Given the description of an element on the screen output the (x, y) to click on. 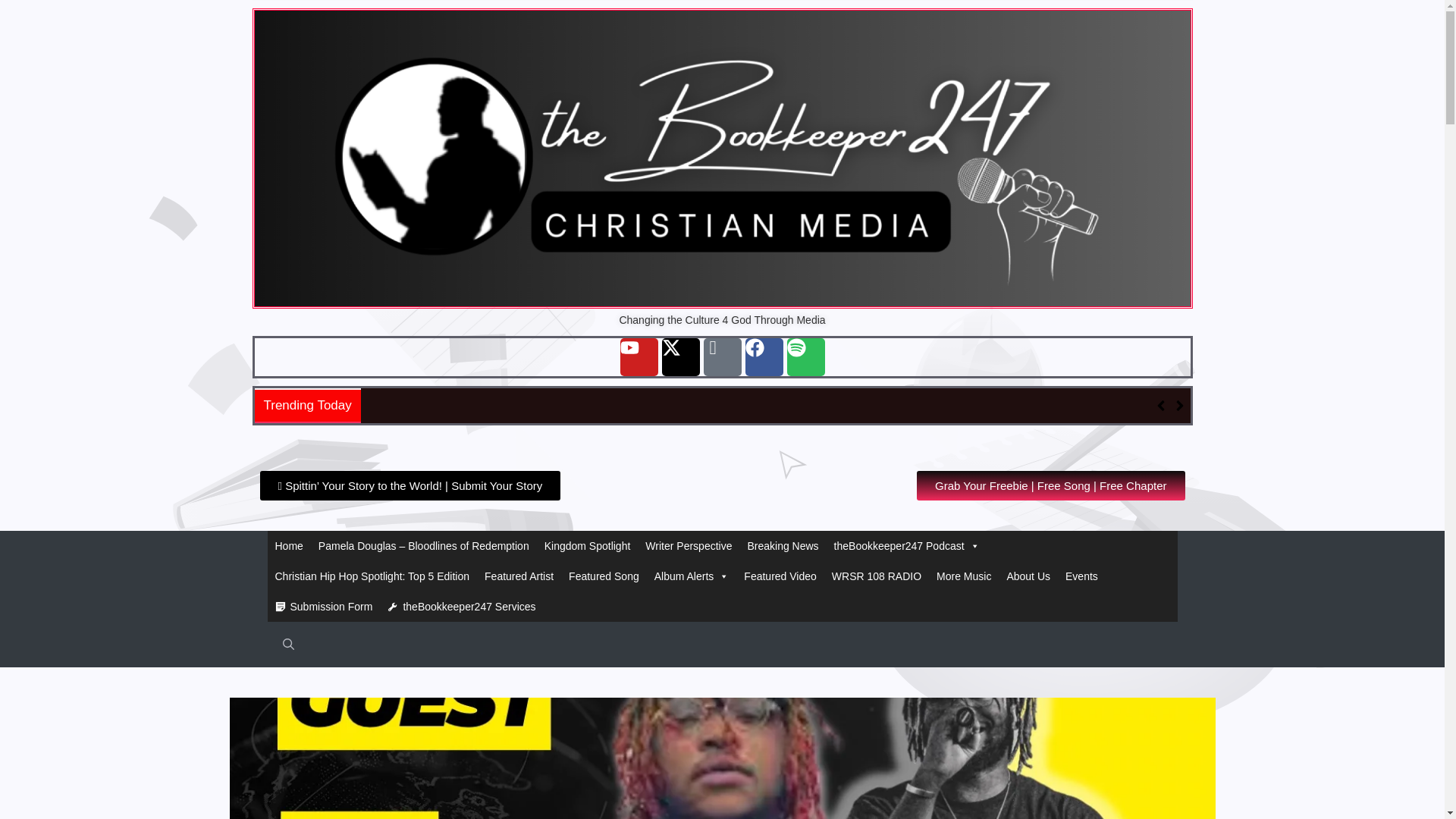
Breaking News (782, 545)
Featured Song (603, 576)
Home (288, 545)
Featured Artist (518, 576)
Christian Hip Hop Spotlight: Top 5 Edition (371, 576)
theBookkeeper247 Podcast (907, 545)
Album Alerts (691, 576)
Kingdom Spotlight (588, 545)
Writer Perspective (688, 545)
